Given the description of an element on the screen output the (x, y) to click on. 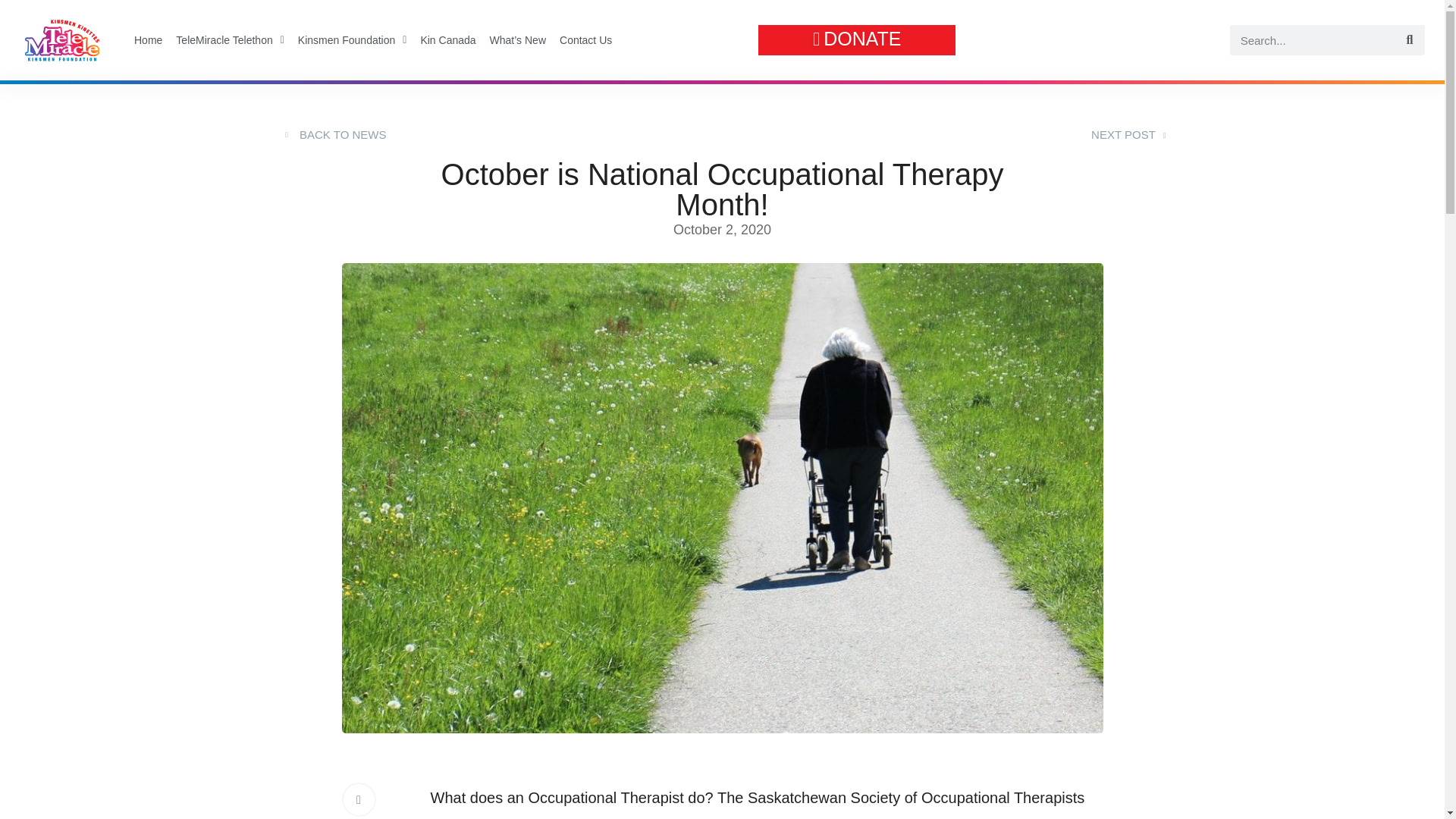
Home (148, 39)
Kinsmen Foundation (352, 39)
TeleMiracle Telethon (229, 39)
Kin Canada (447, 39)
Contact Us (585, 39)
